Given the description of an element on the screen output the (x, y) to click on. 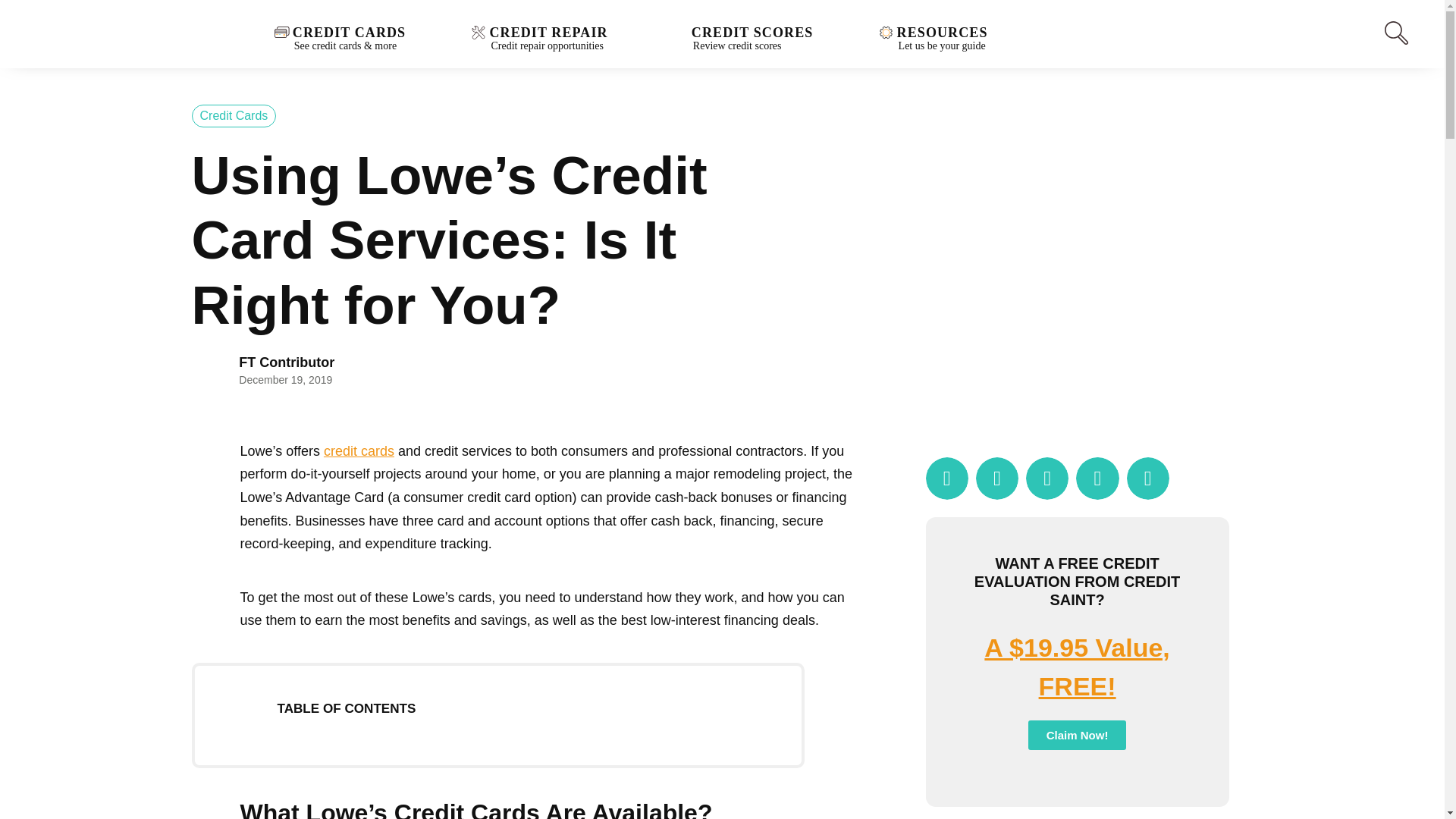
FT Contributor (548, 35)
